Given the description of an element on the screen output the (x, y) to click on. 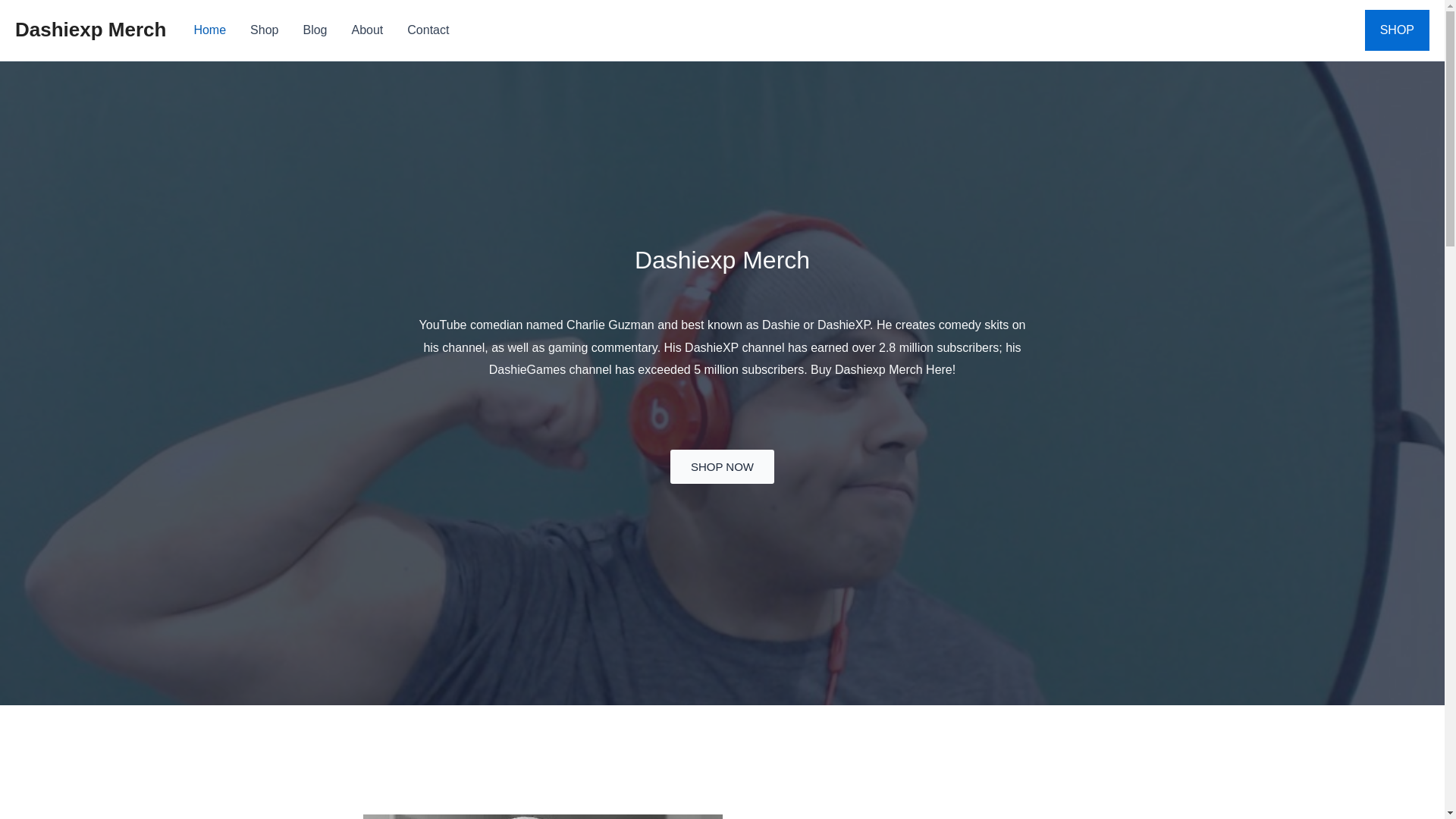
SHOP NOW (721, 465)
Home (209, 30)
SHOP (1397, 29)
About (367, 30)
Dashiexp Merch (89, 29)
